Given the description of an element on the screen output the (x, y) to click on. 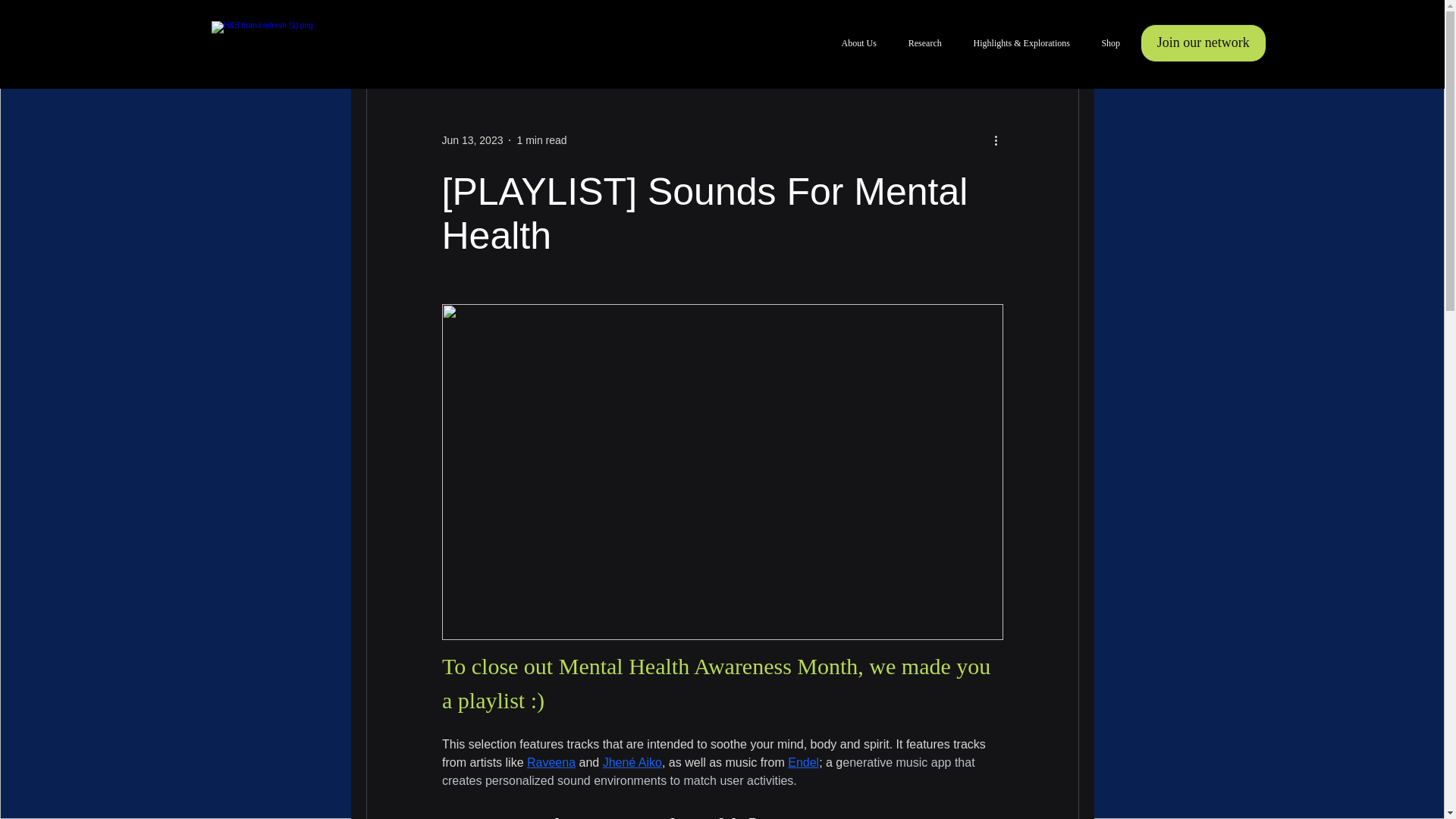
Raveena (551, 762)
1 min read (541, 139)
Research (925, 43)
About Us (858, 43)
Join our network (1203, 43)
Jun 13, 2023 (471, 139)
Shop (1110, 43)
Endel (802, 762)
